Given the description of an element on the screen output the (x, y) to click on. 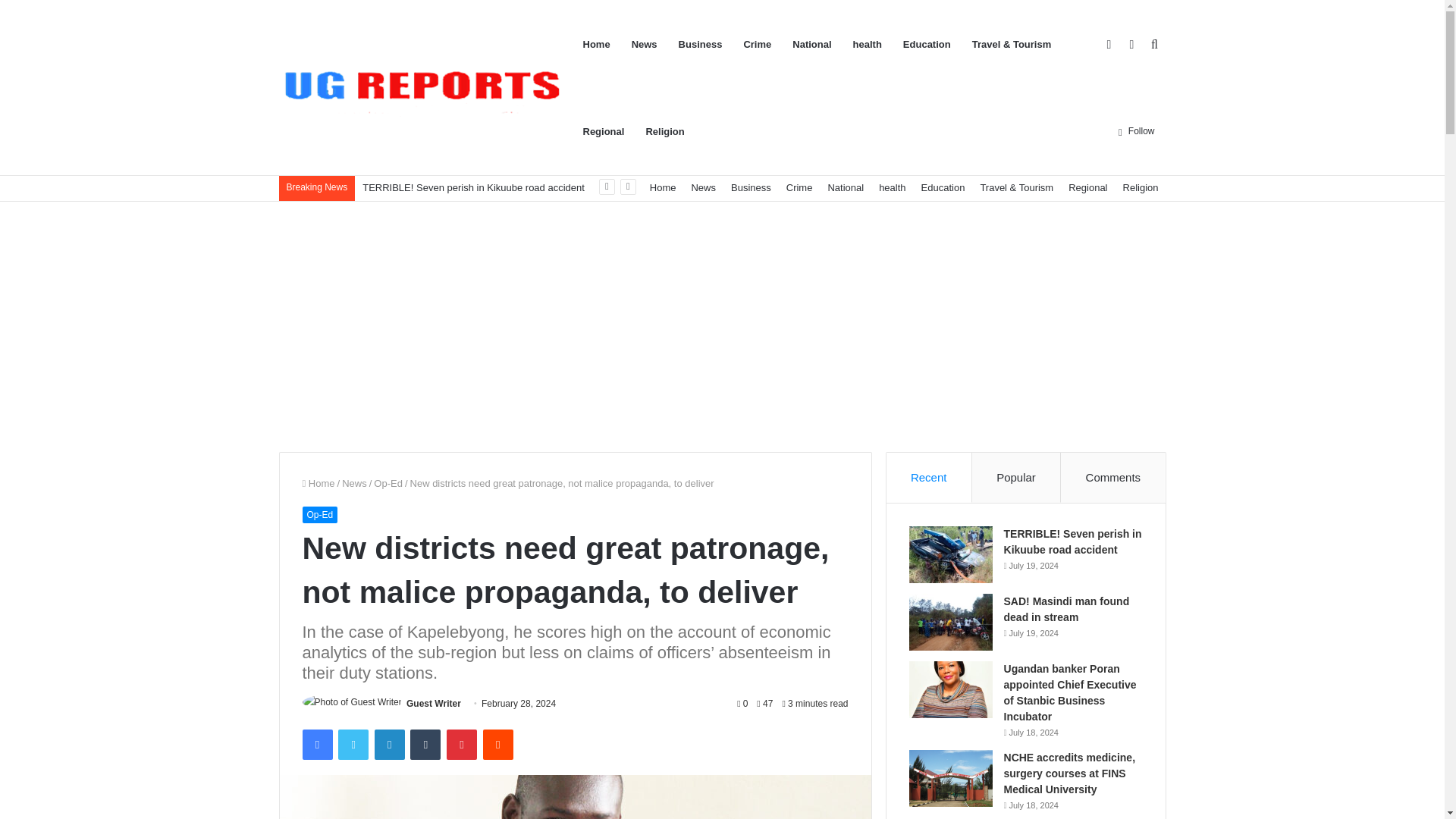
Home (663, 187)
Religion (1140, 187)
News (702, 187)
Twitter (352, 744)
Op-Ed (388, 482)
TERRIBLE! Seven perish in Kikuube road accident (473, 187)
Reddit (498, 744)
Pinterest (461, 744)
UG Reports News (425, 87)
health (891, 187)
Tumblr (425, 744)
Twitter (352, 744)
Crime (799, 187)
Regional (1088, 187)
